Given the description of an element on the screen output the (x, y) to click on. 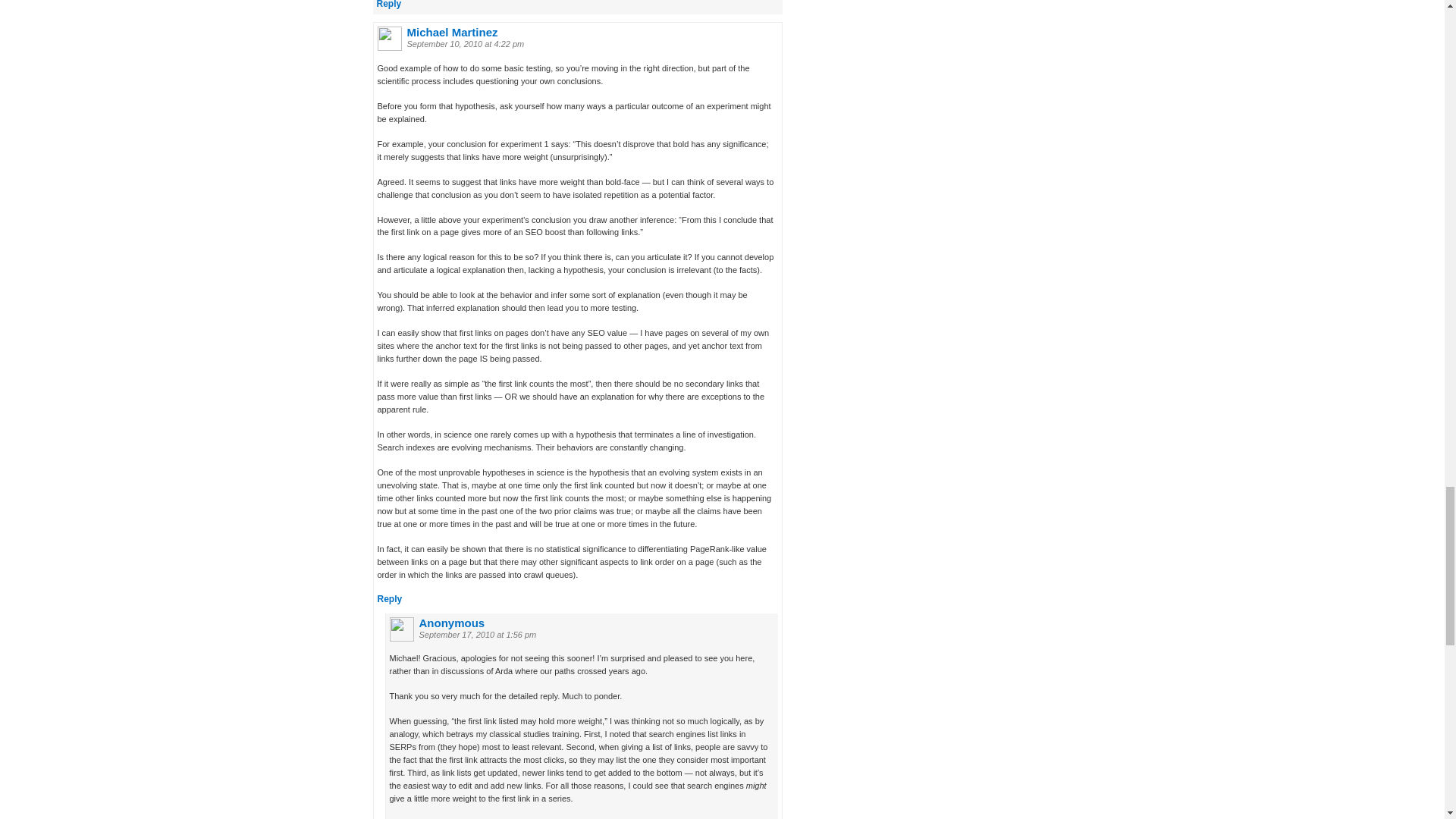
Reply (388, 4)
Anonymous (451, 622)
Michael Martinez (451, 31)
Reply (390, 598)
September 10, 2010 at 4:22 pm (465, 43)
September 17, 2010 at 1:56 pm (477, 634)
